Given the description of an element on the screen output the (x, y) to click on. 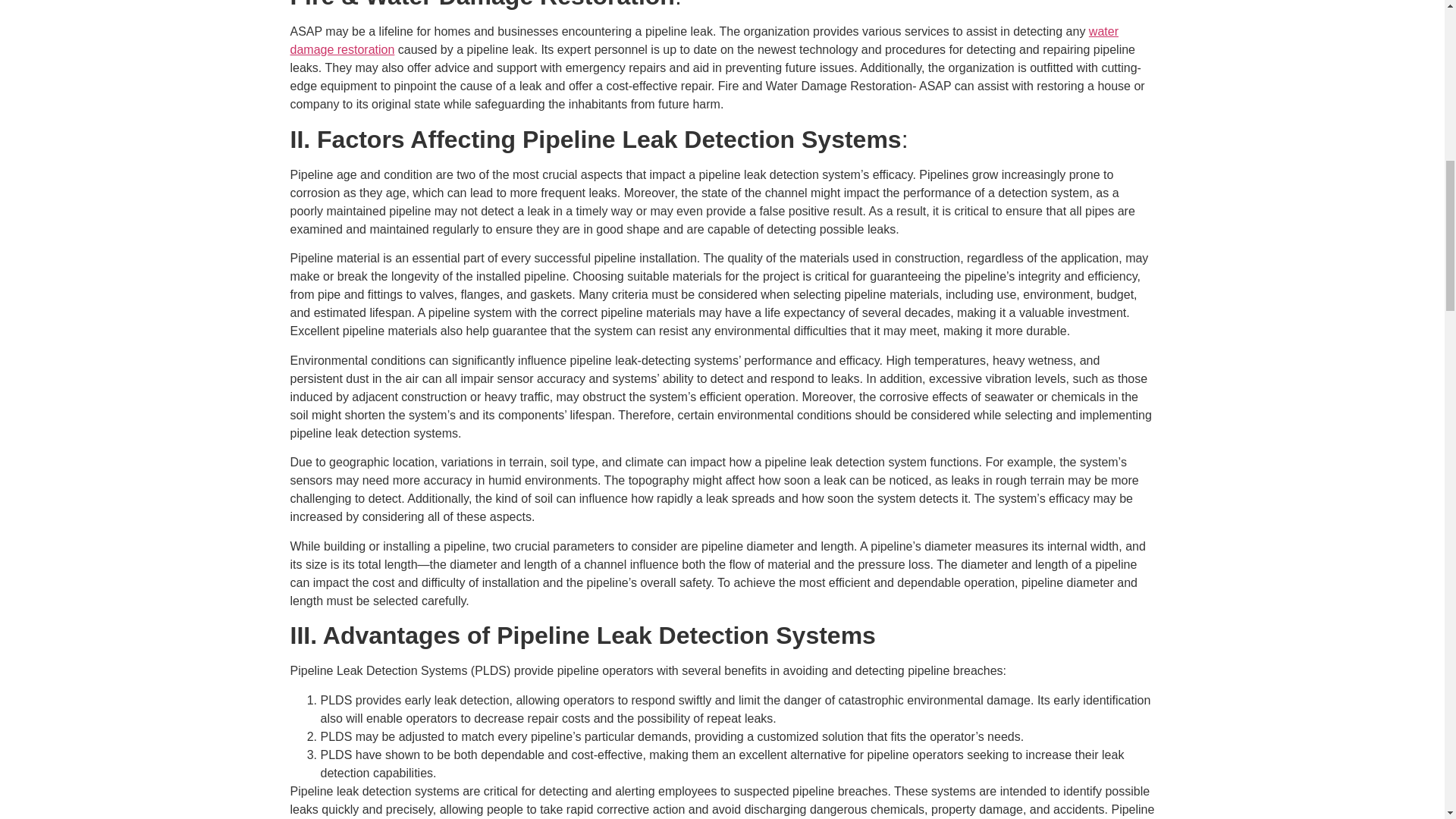
water damage restoration (703, 40)
